Given the description of an element on the screen output the (x, y) to click on. 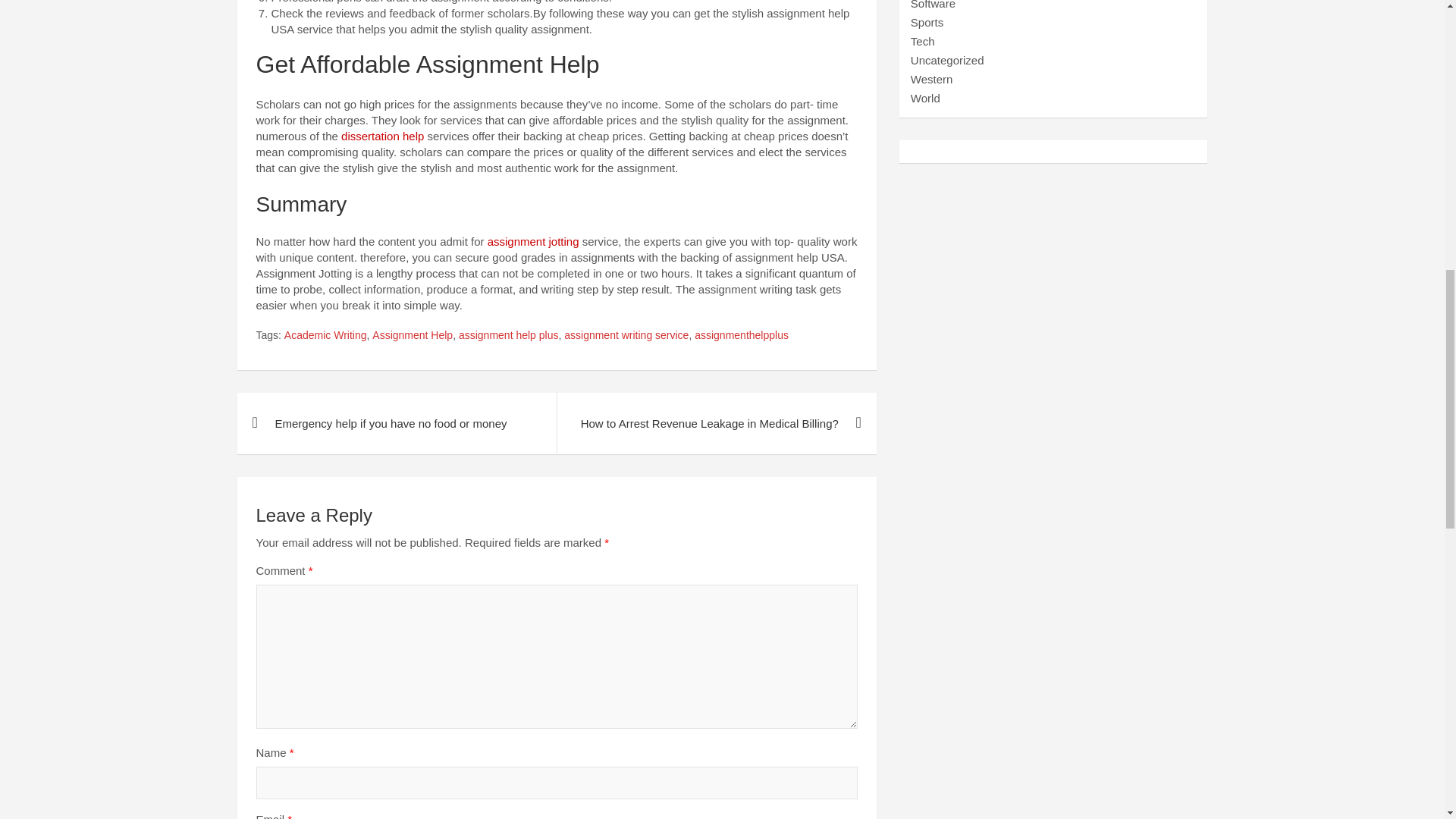
How to Arrest Revenue Leakage in Medical Billing? (716, 423)
Emergency help if you have no food or money (395, 423)
assignmenthelpplus (741, 335)
assignment help plus (508, 335)
assignment jotting (533, 241)
Assignment Help (412, 335)
Academic Writing (324, 335)
dissertation help (381, 135)
assignment writing service (626, 335)
